Given the description of an element on the screen output the (x, y) to click on. 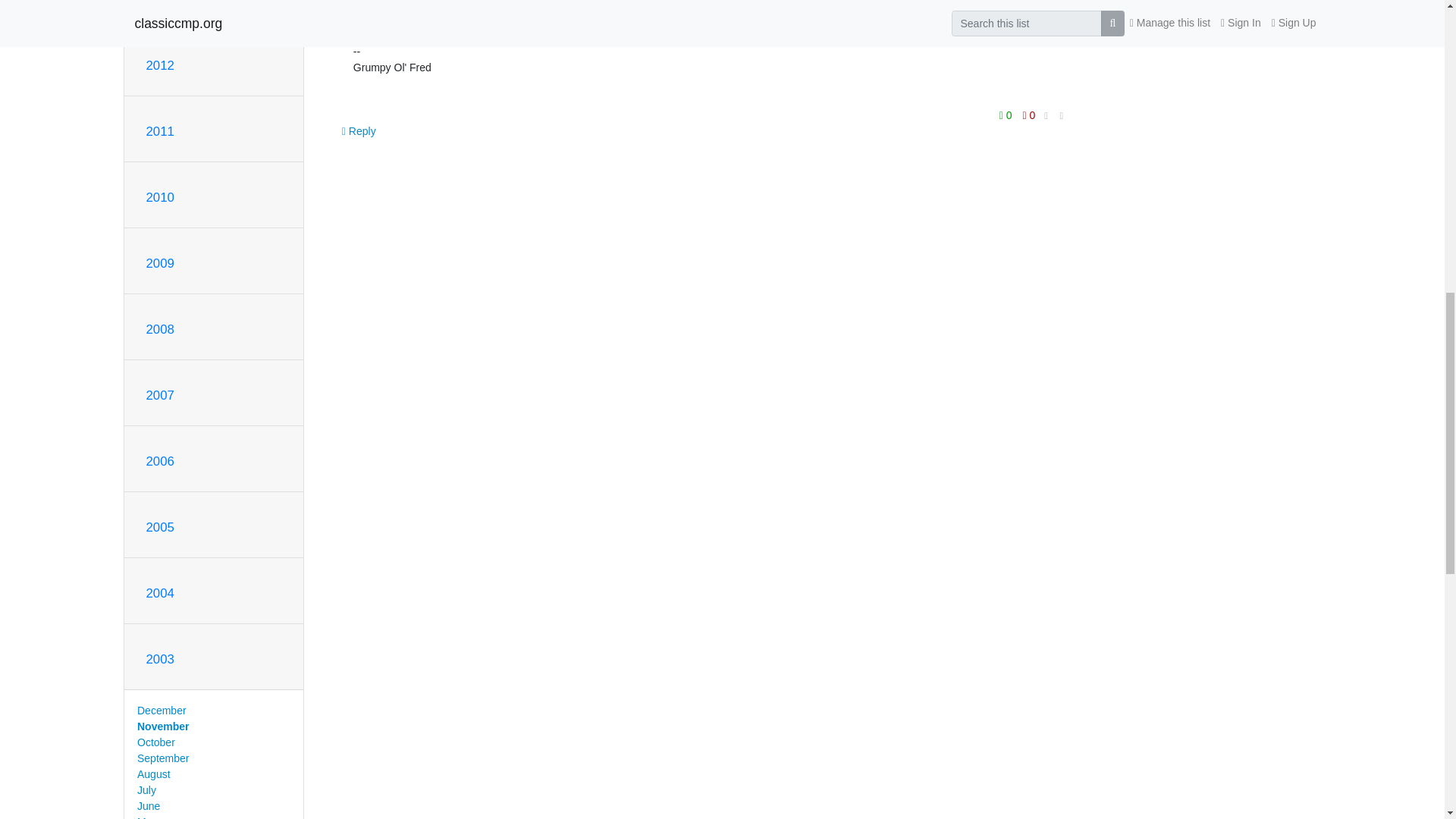
You must be logged-in to vote. (1029, 115)
You must be logged-in to vote. (1007, 115)
Permalink for this message (1061, 116)
Display in fixed font (1046, 116)
Sign in to reply online (359, 130)
